Given the description of an element on the screen output the (x, y) to click on. 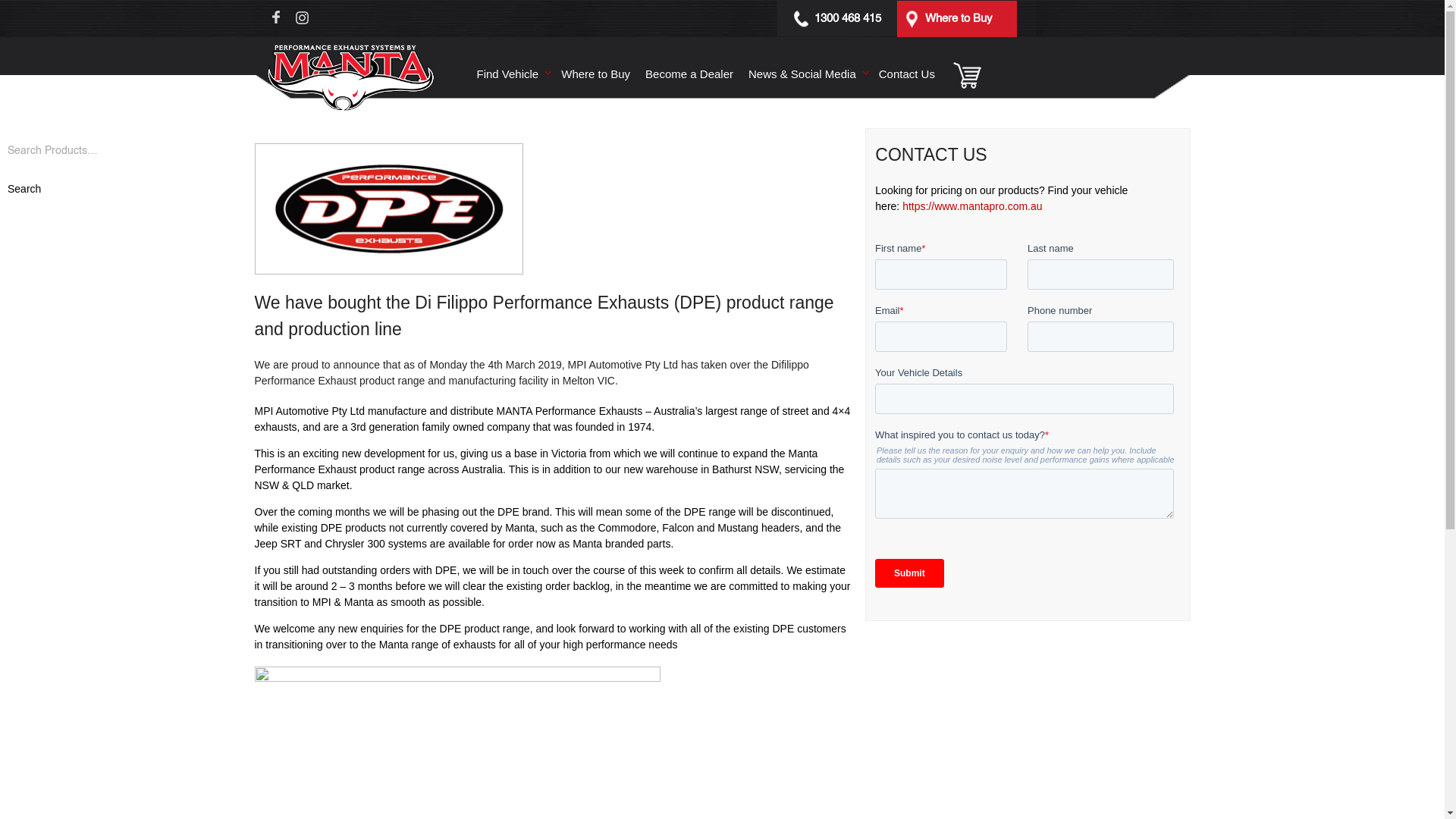
Search Element type: text (24, 188)
Search for: Element type: hover (96, 150)
https://www.mantapro.com.au Element type: text (971, 206)
News & Social Media Element type: text (805, 73)
Form 0 Element type: hover (1027, 420)
Where to Buy Element type: text (952, 18)
View your shopping cart Element type: hover (965, 74)
Where to Buy Element type: text (595, 73)
Contact Us Element type: text (906, 73)
Find Vehicle Element type: text (510, 73)
Become a Dealer Element type: text (688, 73)
